Given the description of an element on the screen output the (x, y) to click on. 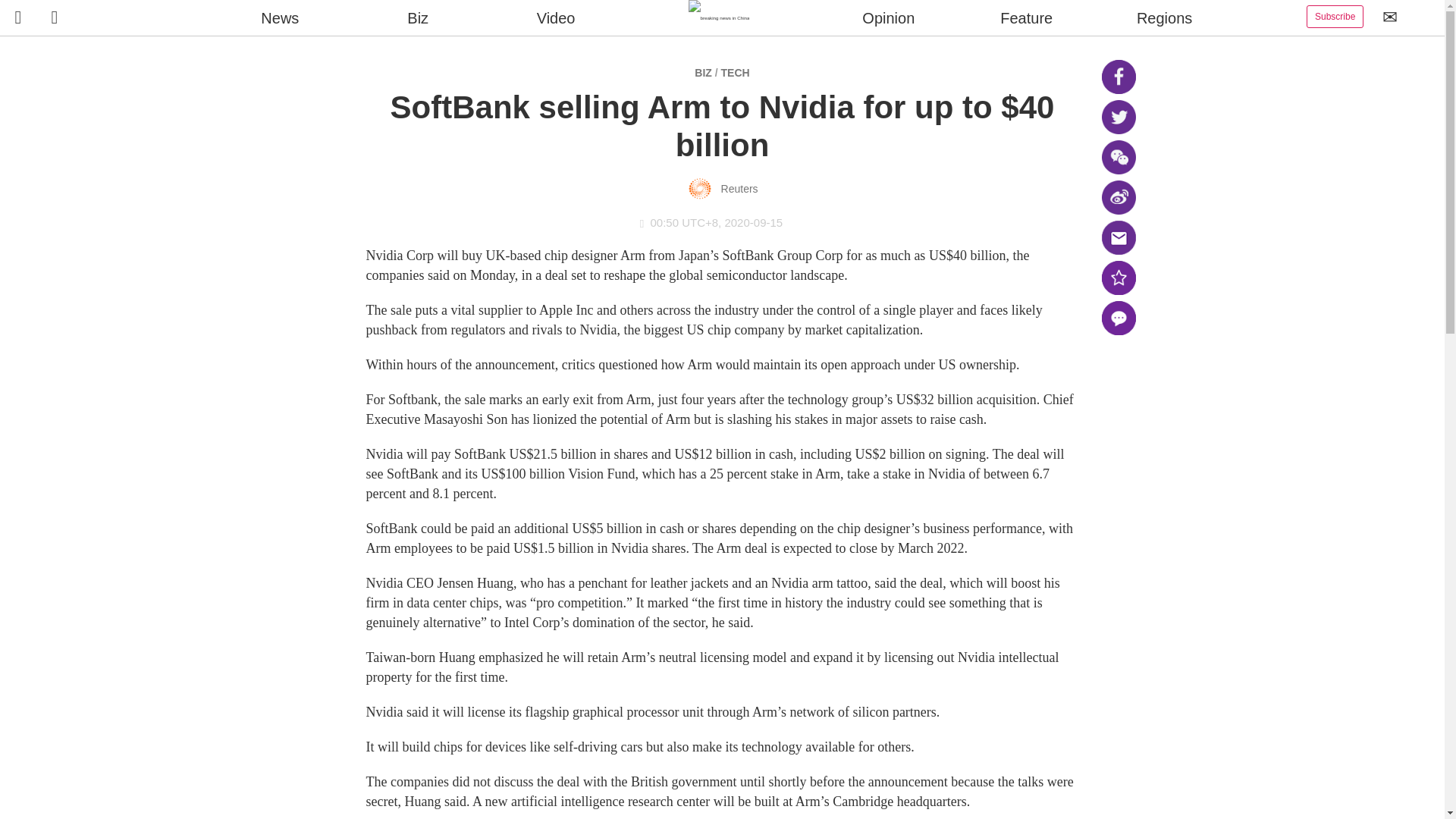
Share your comments (1117, 317)
TECH (734, 72)
Share via email (1117, 237)
BIZ (702, 72)
Add to favorites (1117, 277)
